Given the description of an element on the screen output the (x, y) to click on. 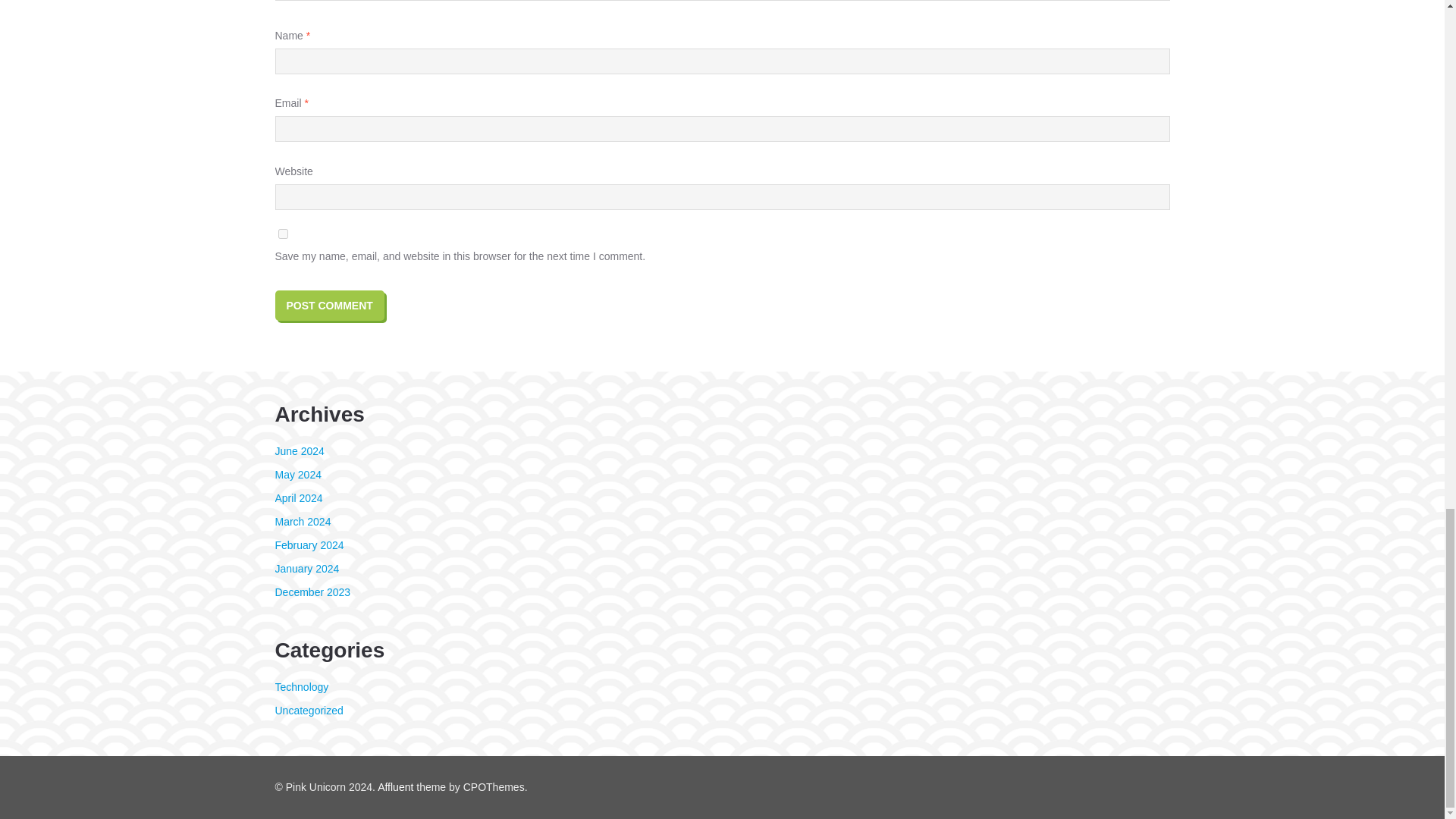
yes (282, 234)
May 2024 (297, 474)
February 2024 (309, 544)
Uncategorized (308, 710)
December 2023 (312, 592)
March 2024 (302, 521)
June 2024 (299, 451)
Affluent (395, 787)
April 2024 (298, 498)
Post Comment (329, 305)
January 2024 (307, 568)
Post Comment (329, 305)
Technology (302, 686)
